Given the description of an element on the screen output the (x, y) to click on. 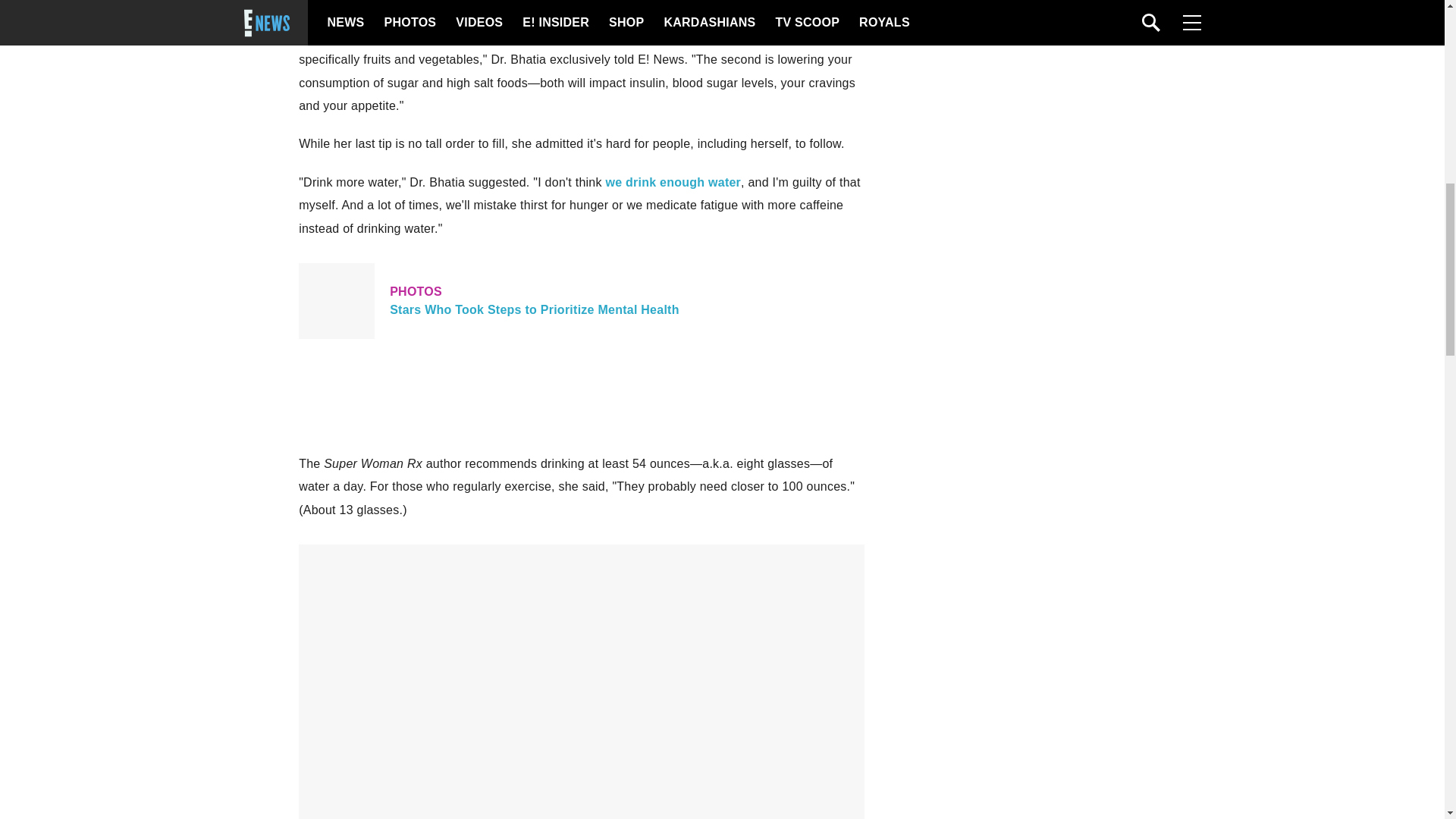
we drink enough water (673, 182)
keep it simple (581, 300)
a healthier diet (748, 2)
